Given the description of an element on the screen output the (x, y) to click on. 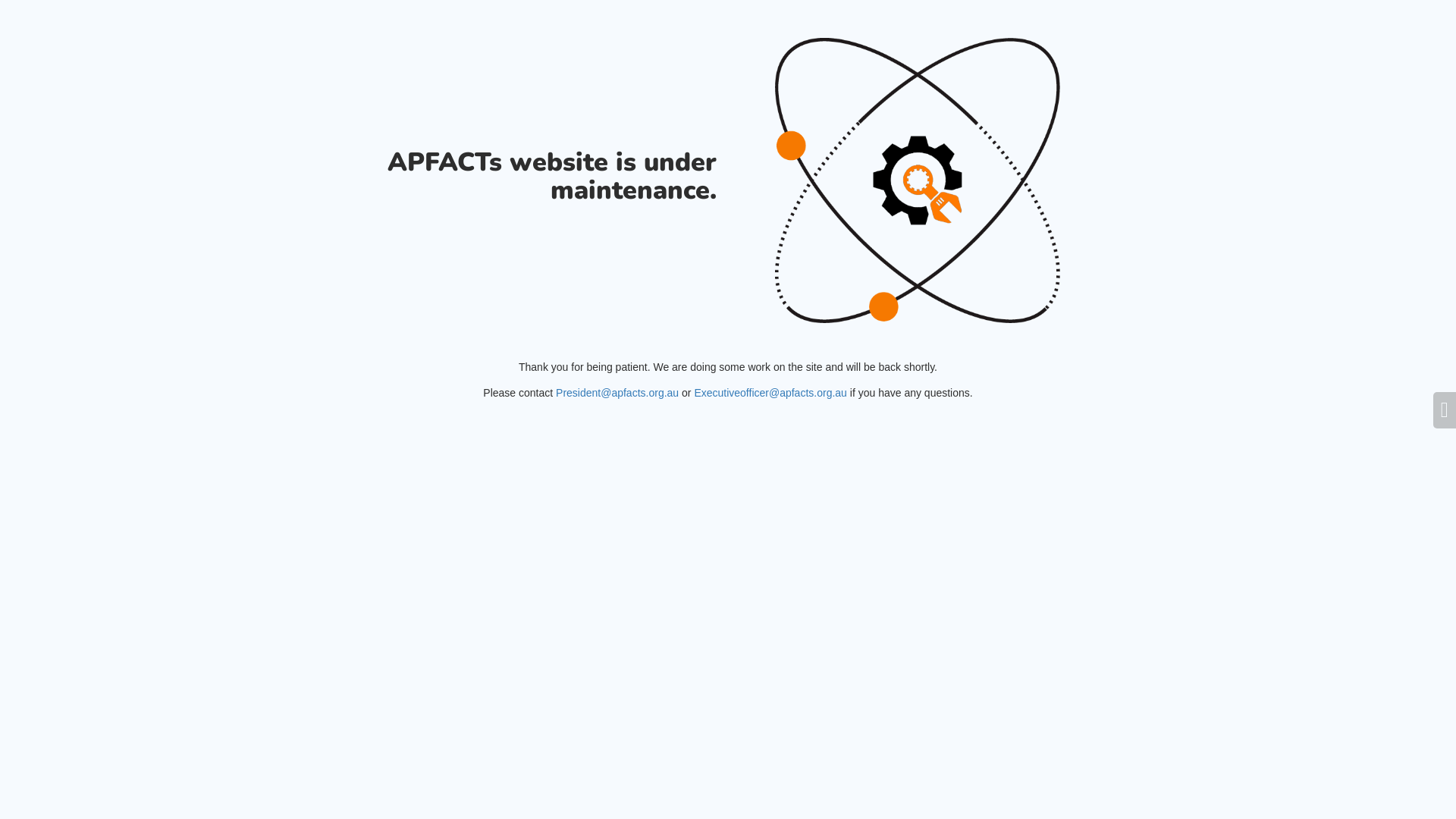
President@apfacts.org.au Element type: text (616, 392)
Executiveofficer@apfacts.org.au Element type: text (770, 392)
